Given the description of an element on the screen output the (x, y) to click on. 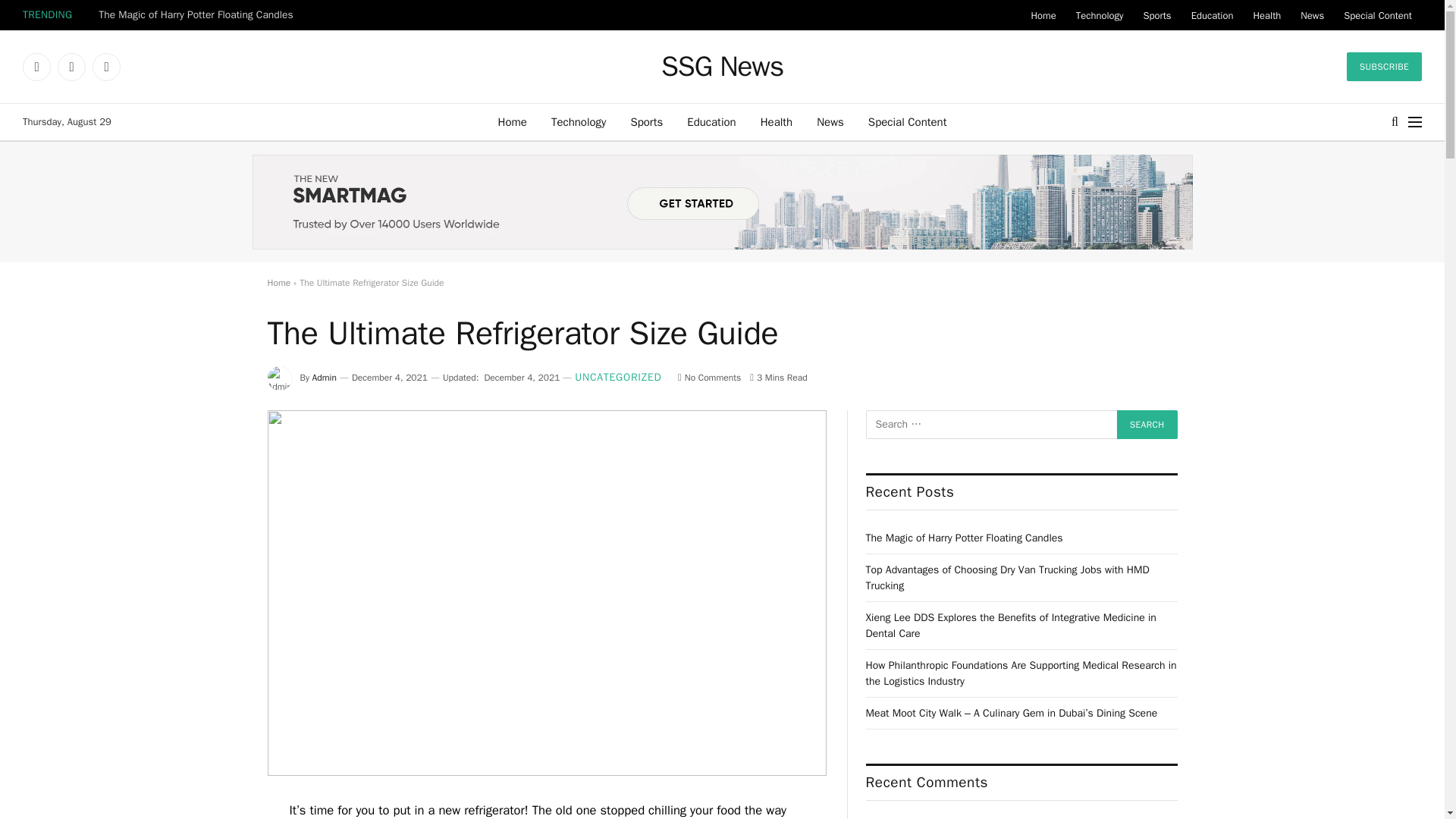
Technology (1099, 15)
Education (711, 122)
Posts by Admin (324, 377)
Home (1042, 15)
The Magic of Harry Potter Floating Candles (199, 15)
News (830, 122)
Technology (578, 122)
ssgnews.com (722, 66)
SSG News (722, 66)
